Given the description of an element on the screen output the (x, y) to click on. 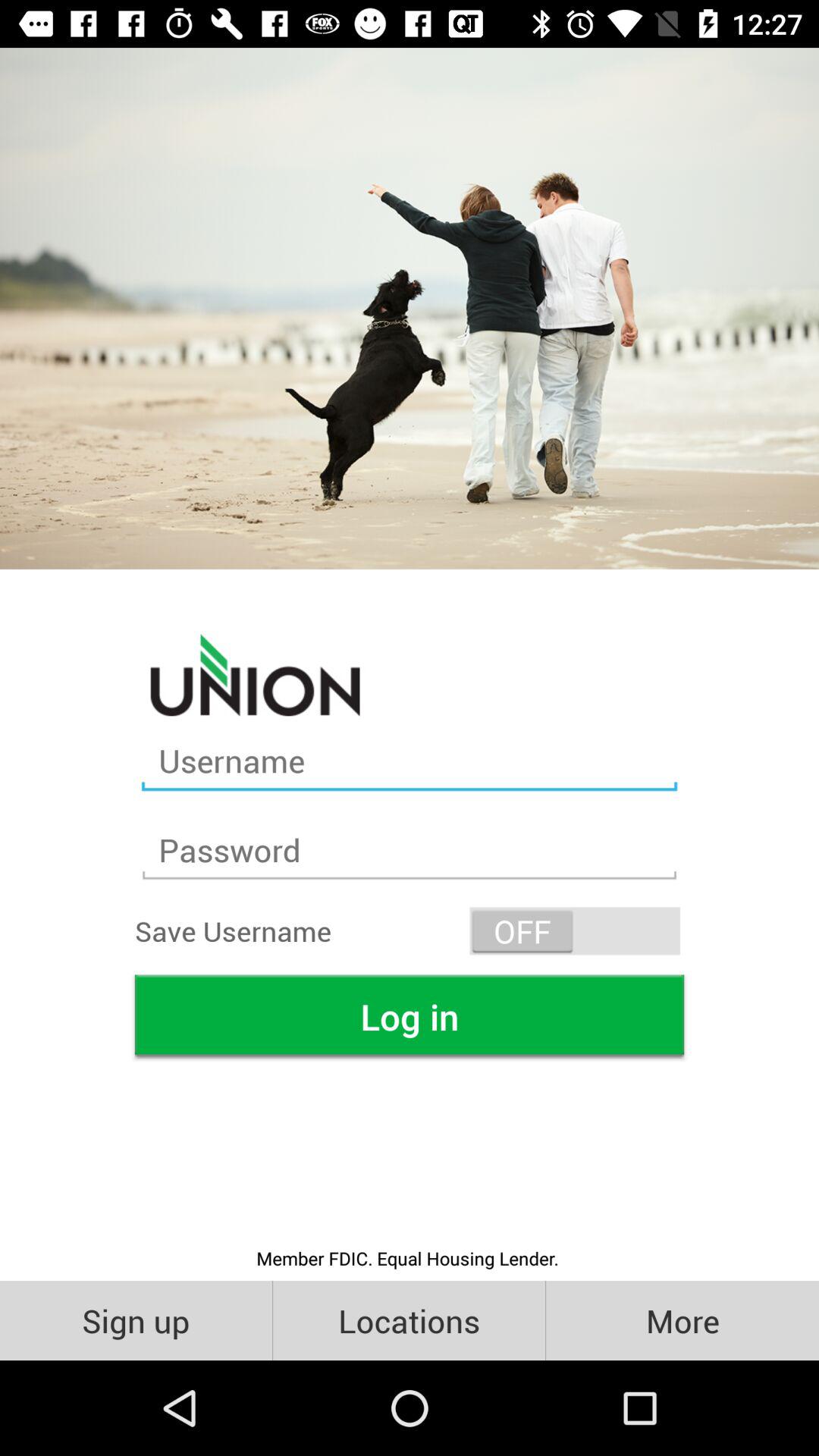
click the icon on the right (574, 930)
